Given the description of an element on the screen output the (x, y) to click on. 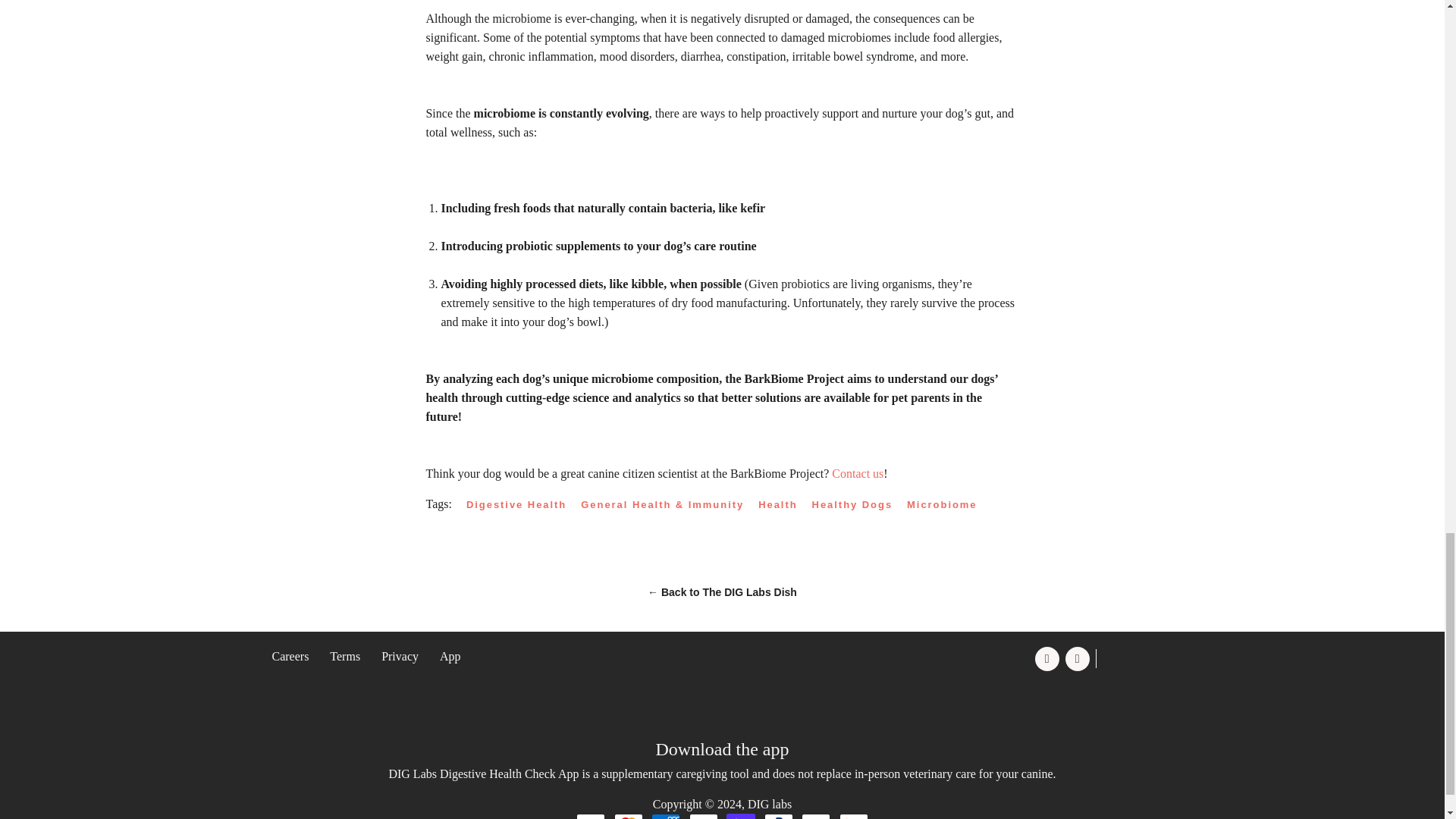
DIG labs on Instagram (1079, 658)
Contact Us (857, 472)
Facebook (1048, 658)
Digestive Health (521, 504)
Careers (289, 656)
DIG labs on Facebook (1048, 658)
Meta Pay (815, 816)
Instagram (1079, 658)
App (450, 656)
Discover (702, 816)
